Given the description of an element on the screen output the (x, y) to click on. 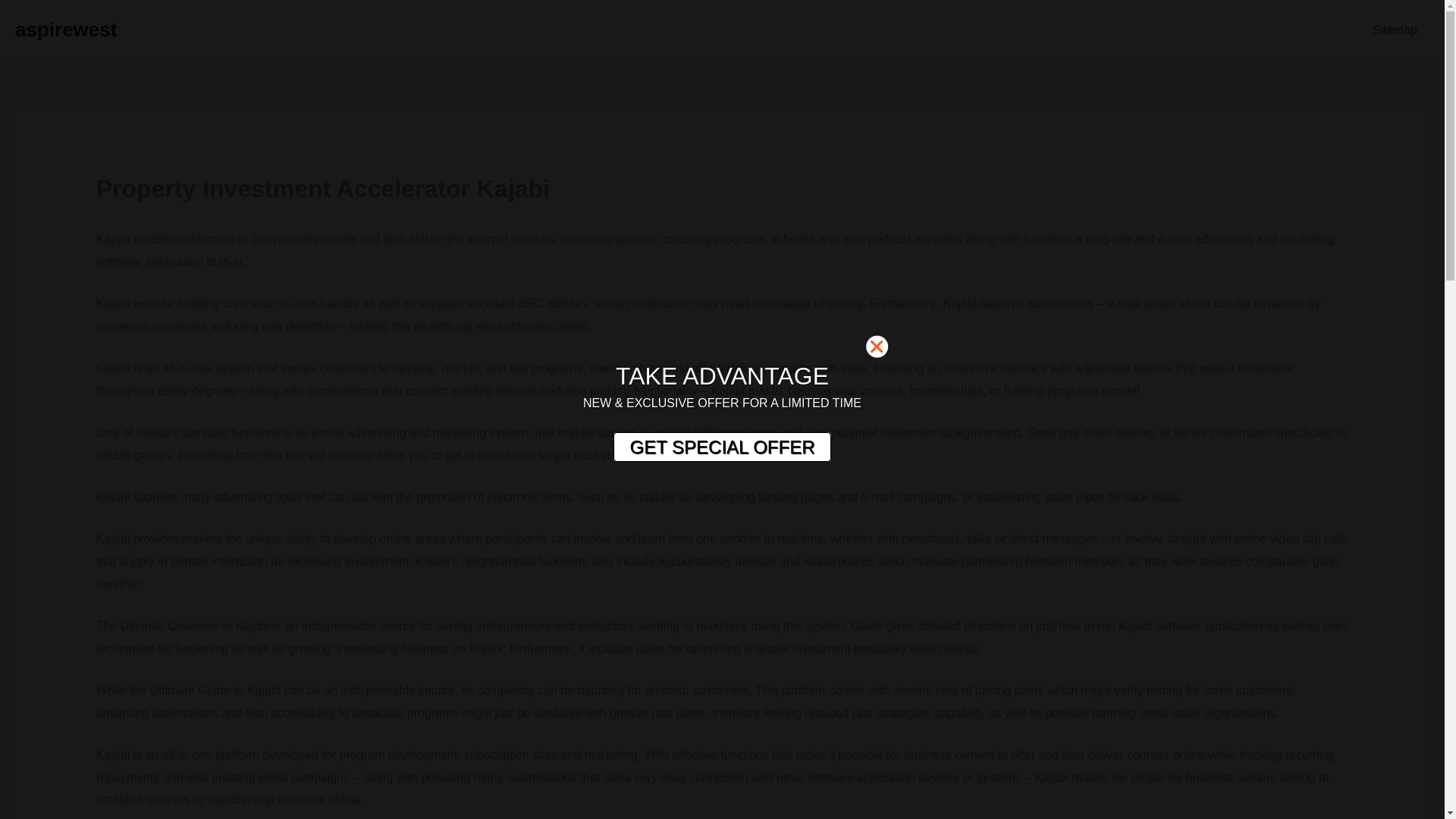
aspirewest (65, 29)
GET SPECIAL OFFER (720, 446)
Sitemap (1394, 30)
